Given the description of an element on the screen output the (x, y) to click on. 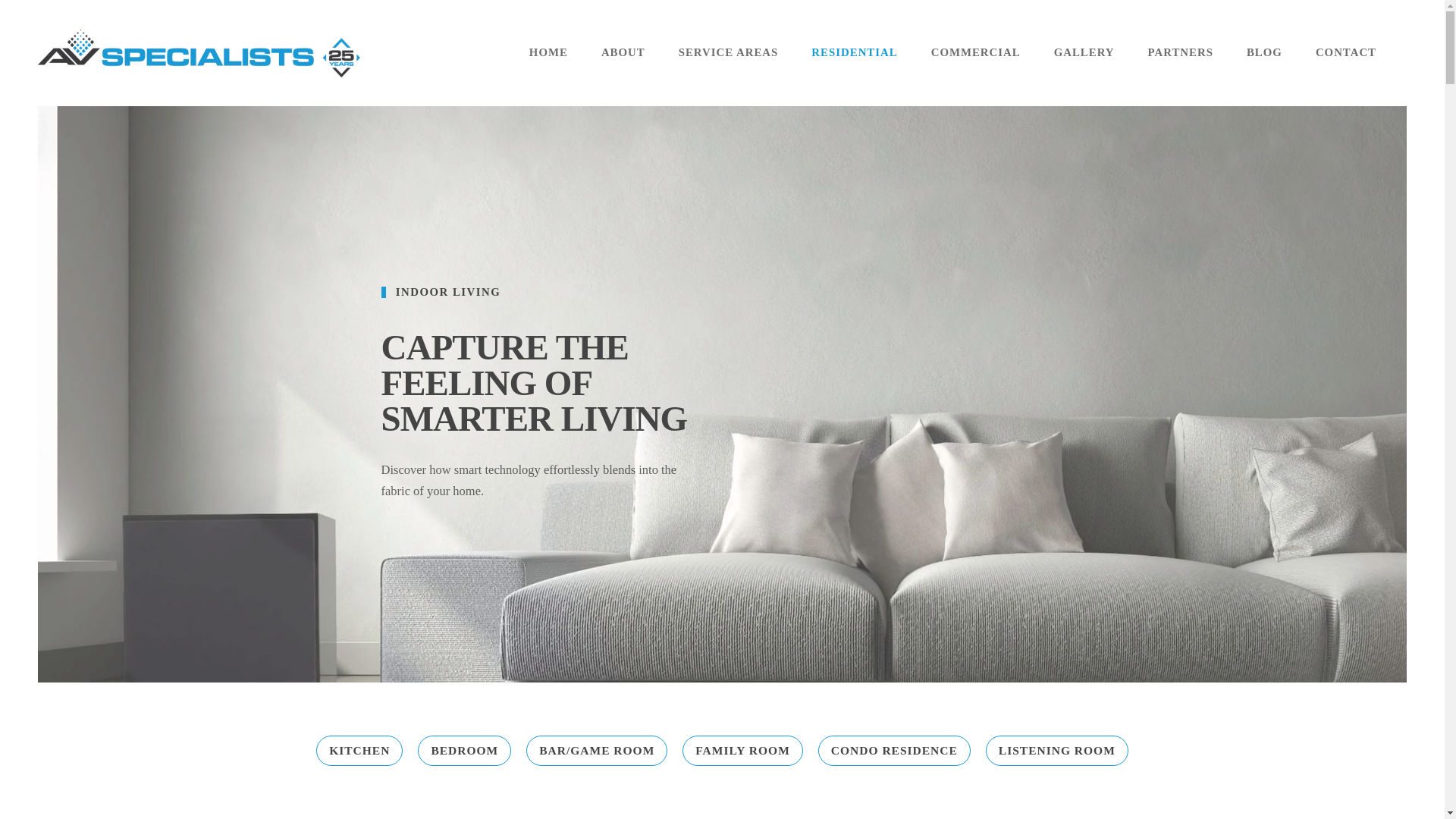
CAPTURE THE FEELING OF SMARTER LIVING (537, 383)
INDOOR LIVING (537, 292)
